Given the description of an element on the screen output the (x, y) to click on. 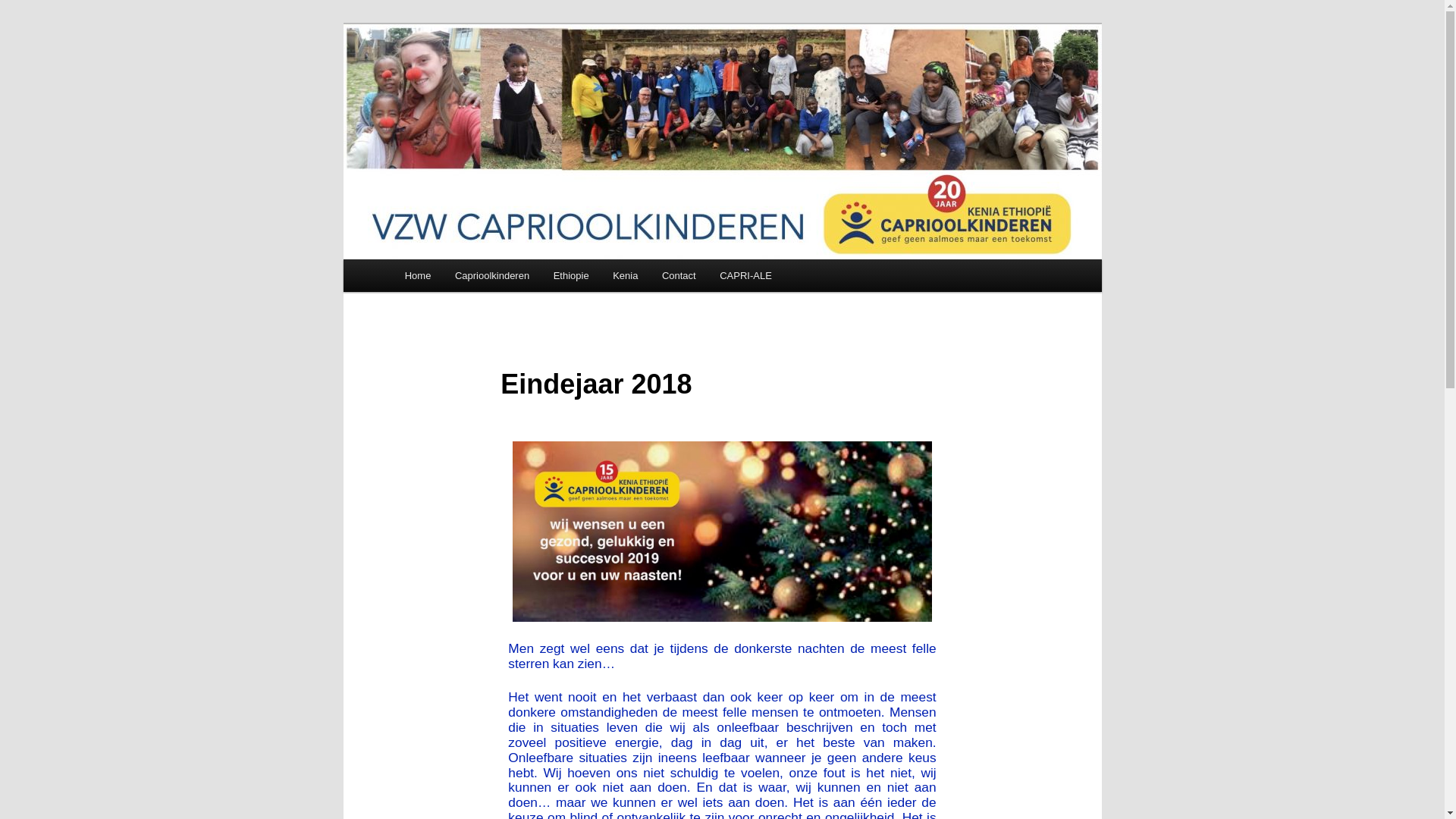
Contact Element type: text (678, 275)
Home Element type: text (417, 275)
Spring naar de primaire inhoud Element type: text (22, 22)
Caprioolkinderen Element type: text (491, 275)
Ethiopie Element type: text (570, 275)
Kenia Element type: text (624, 275)
VZW Caprioolkinderen Element type: text (522, 78)
CAPRI-ALE Element type: text (745, 275)
